Given the description of an element on the screen output the (x, y) to click on. 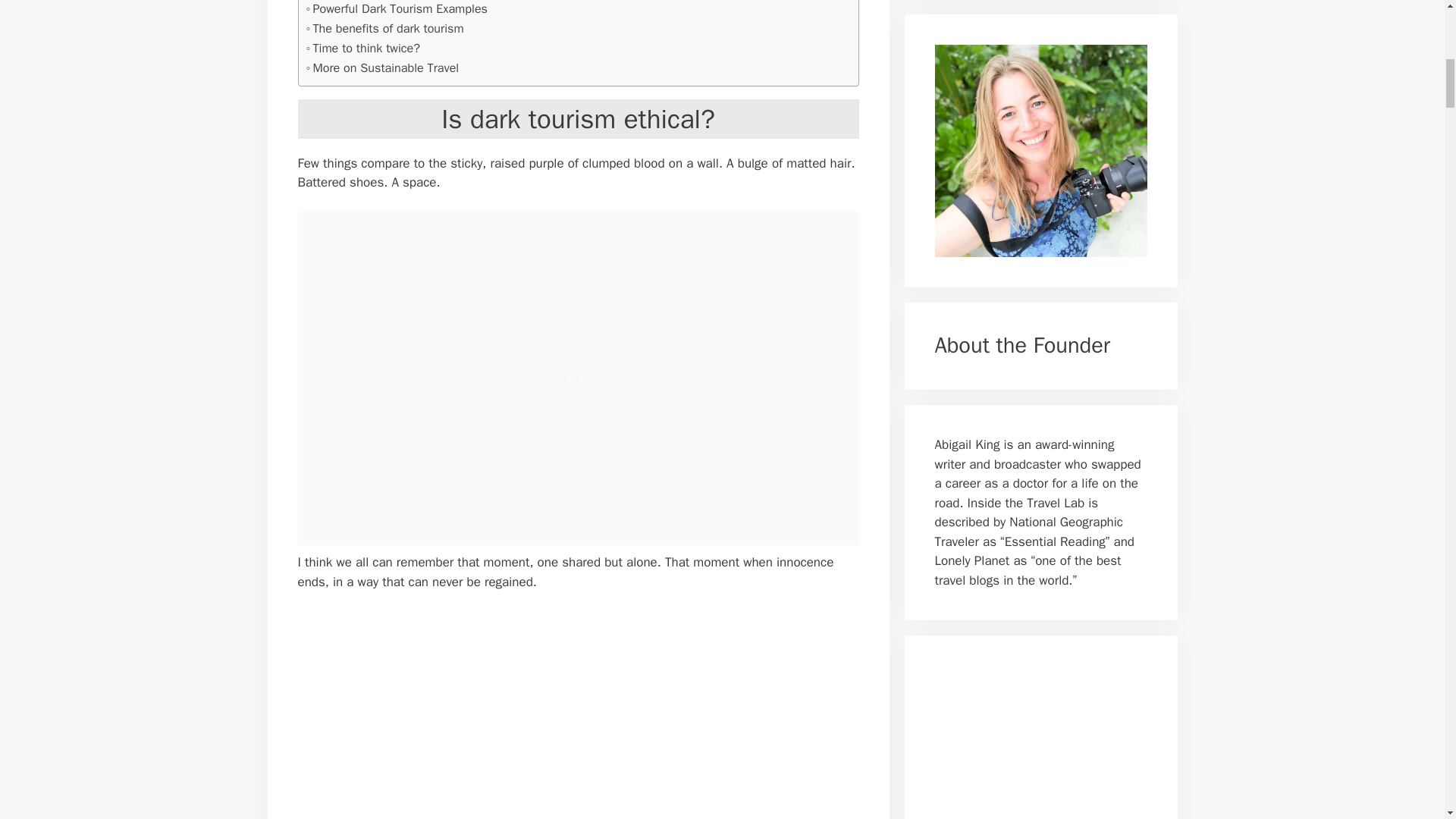
Dark tourism - S21 in Cambodia near the Killing Fields (547, 714)
More on Sustainable Travel (382, 67)
The benefits of dark tourism (384, 28)
Time to think twice? (362, 48)
Powerful Dark Tourism Examples (396, 9)
